Given the description of an element on the screen output the (x, y) to click on. 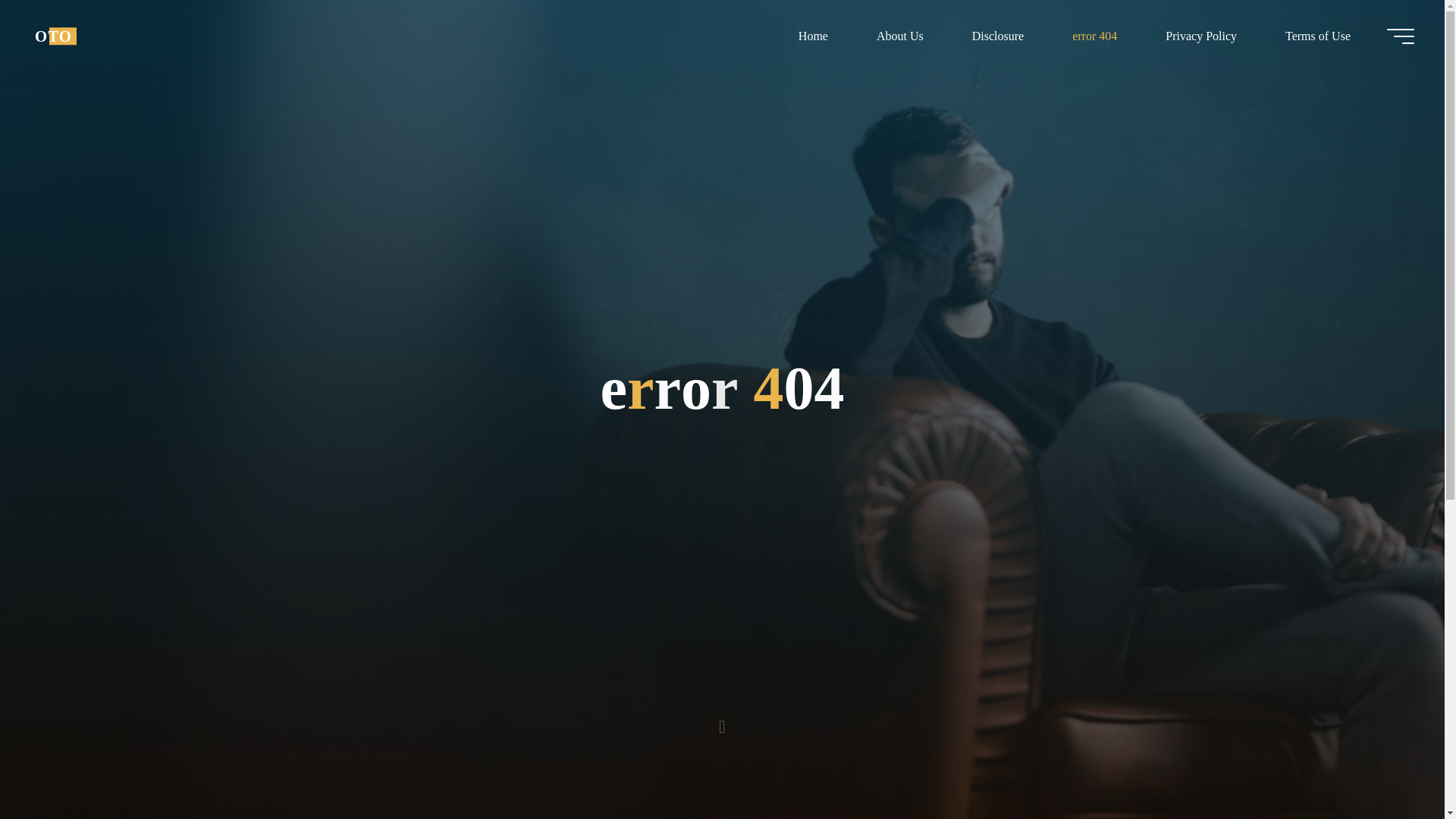
Privacy Policy (1200, 35)
OTO (53, 36)
About Us (899, 35)
Terms of Use (1317, 35)
Home (812, 35)
Disclosure (997, 35)
error 404 (1094, 35)
Read more (721, 724)
